Given the description of an element on the screen output the (x, y) to click on. 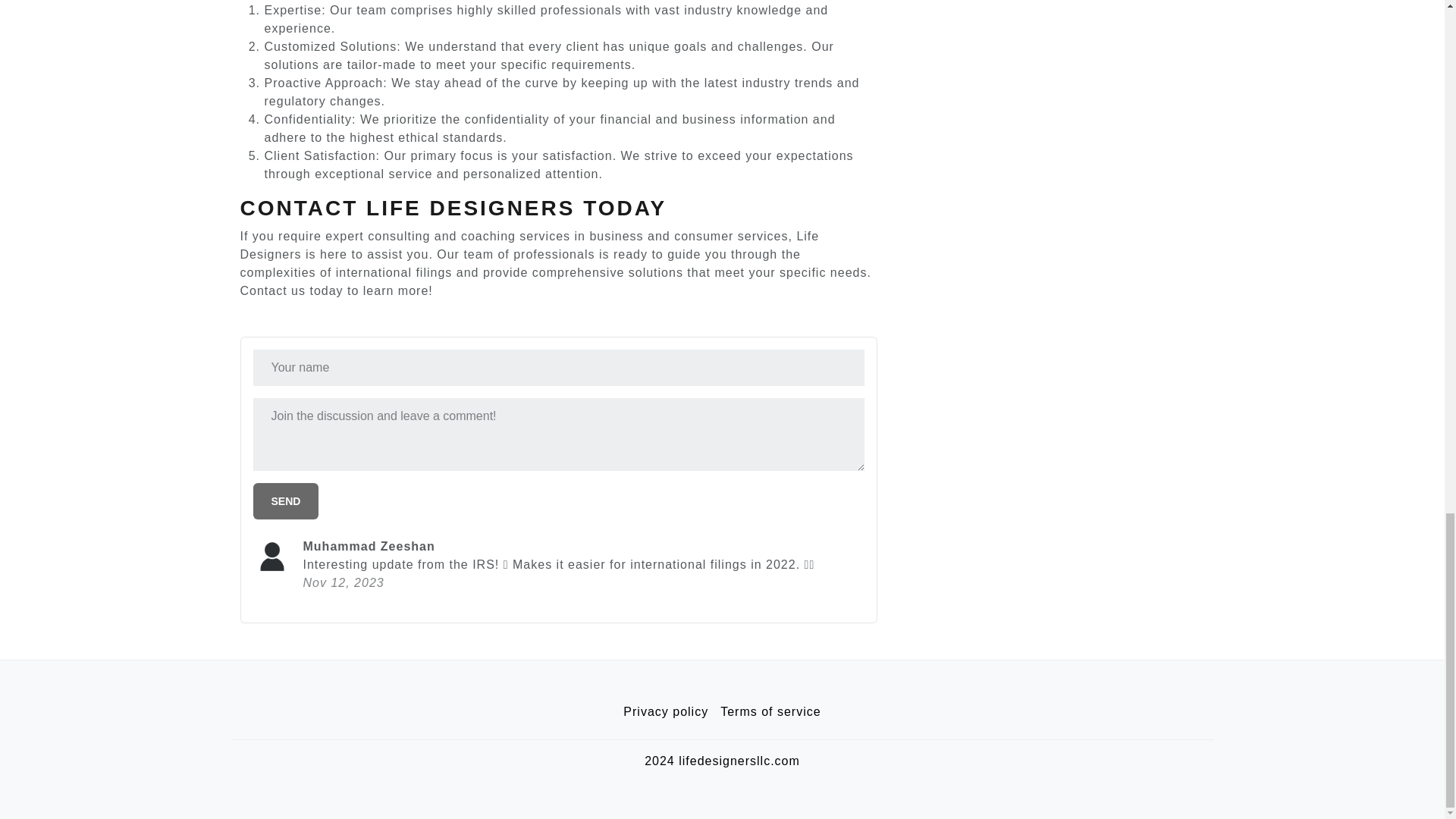
Terms of service (770, 711)
Send (285, 501)
Privacy policy (665, 711)
Send (285, 501)
